Given the description of an element on the screen output the (x, y) to click on. 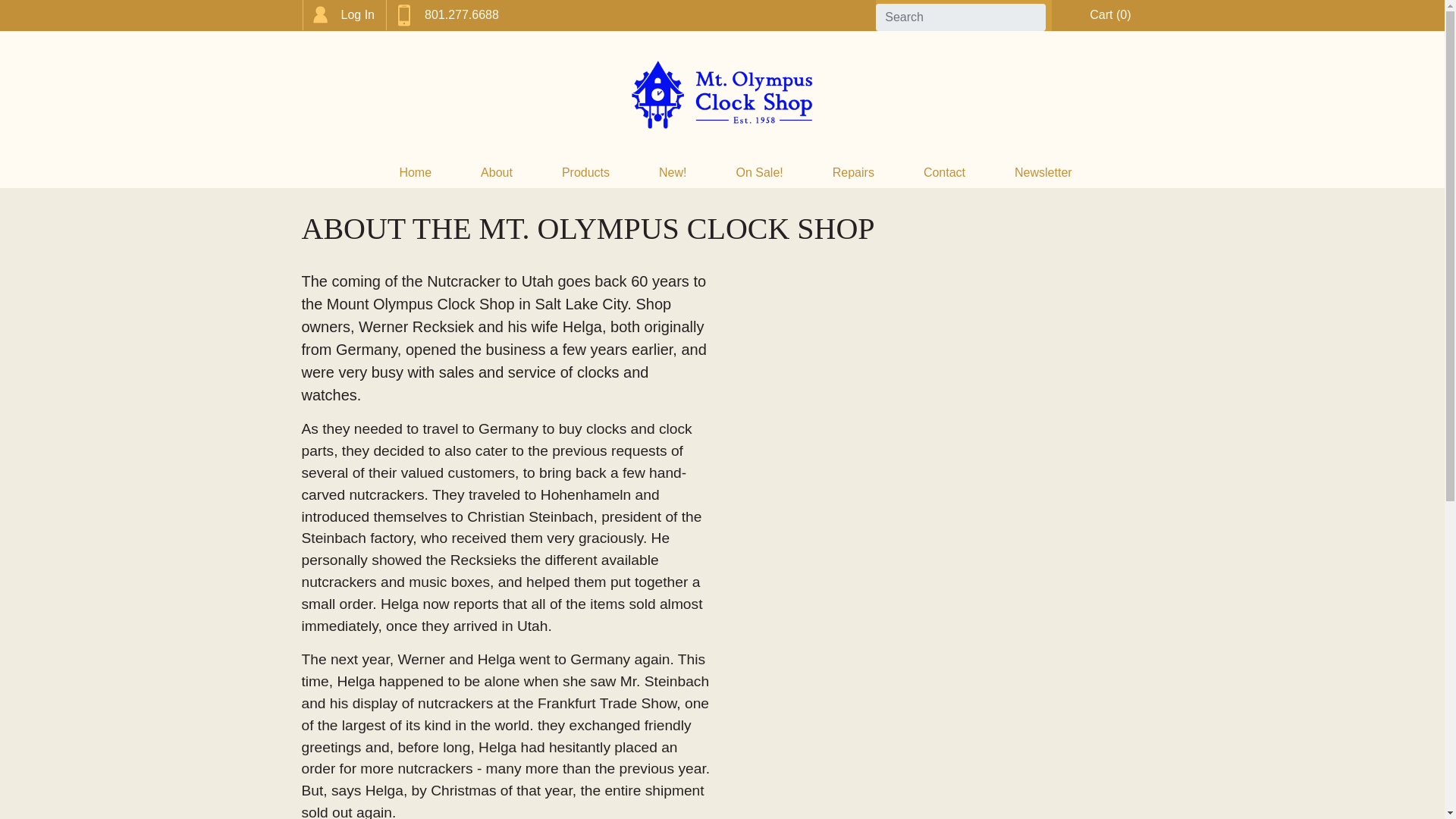
Home (401, 173)
Repairs (839, 173)
About (483, 173)
Contact (930, 173)
Newsletter (1029, 173)
New! (659, 173)
Products (572, 173)
801.277.6688 (448, 15)
Log In (343, 15)
On Sale! (745, 173)
